Given the description of an element on the screen output the (x, y) to click on. 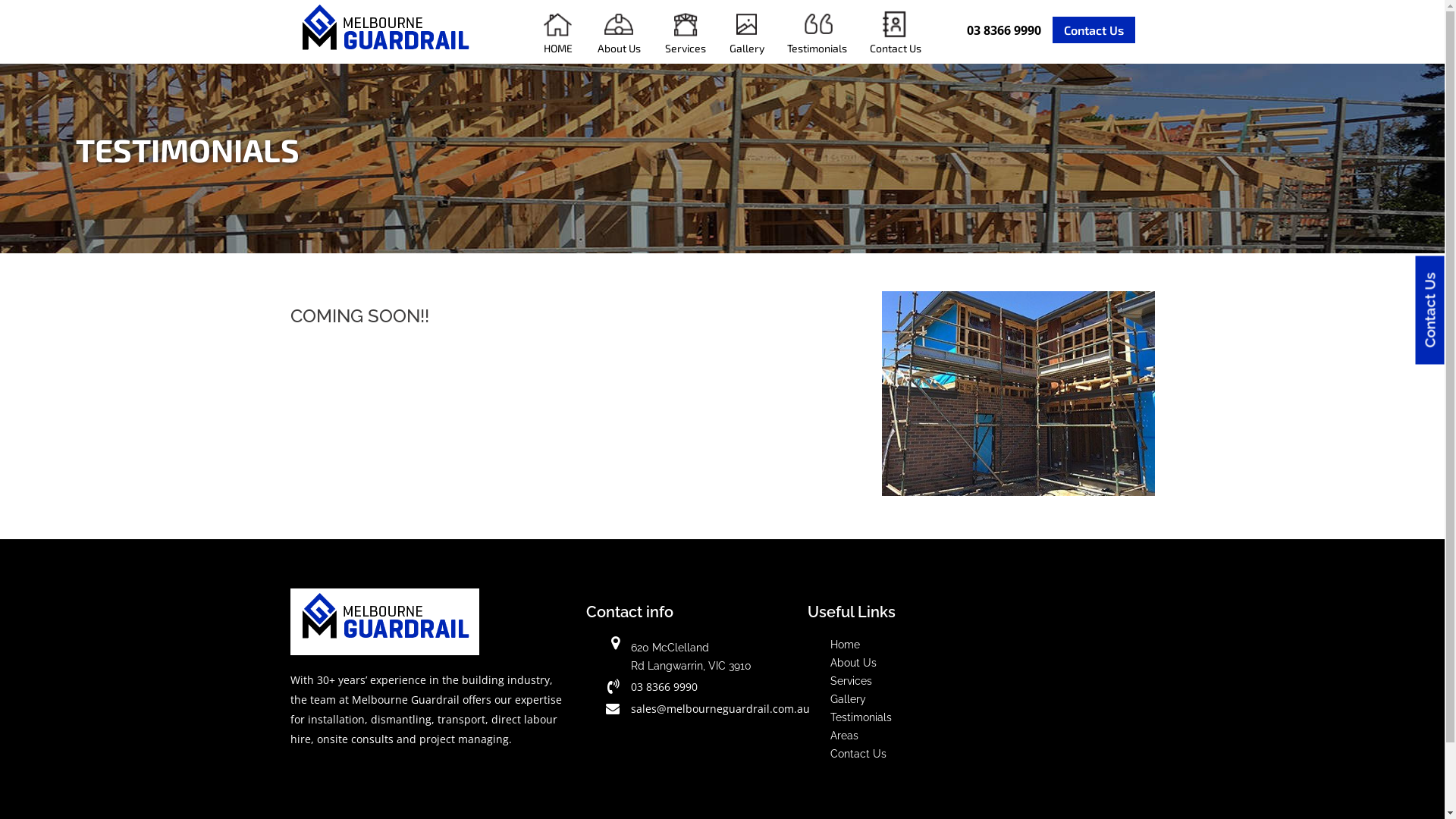
sales@melbourneguardrail.com.au Element type: text (719, 708)
About Us Element type: text (619, 31)
Areas Element type: text (844, 735)
Contact Us Element type: text (858, 753)
Testimonials Element type: text (816, 31)
HOME Element type: text (558, 31)
Contact Us Element type: text (895, 31)
Services Element type: text (685, 31)
Testimonials Element type: text (860, 717)
Home Element type: text (844, 644)
Gallery Element type: text (746, 31)
03 8366 9990 Element type: text (663, 686)
Gallery Element type: text (848, 699)
About Us Element type: text (853, 662)
03 8366 9990 Element type: text (1003, 29)
Services Element type: text (851, 680)
Contact Us Element type: text (1093, 29)
